Given the description of an element on the screen output the (x, y) to click on. 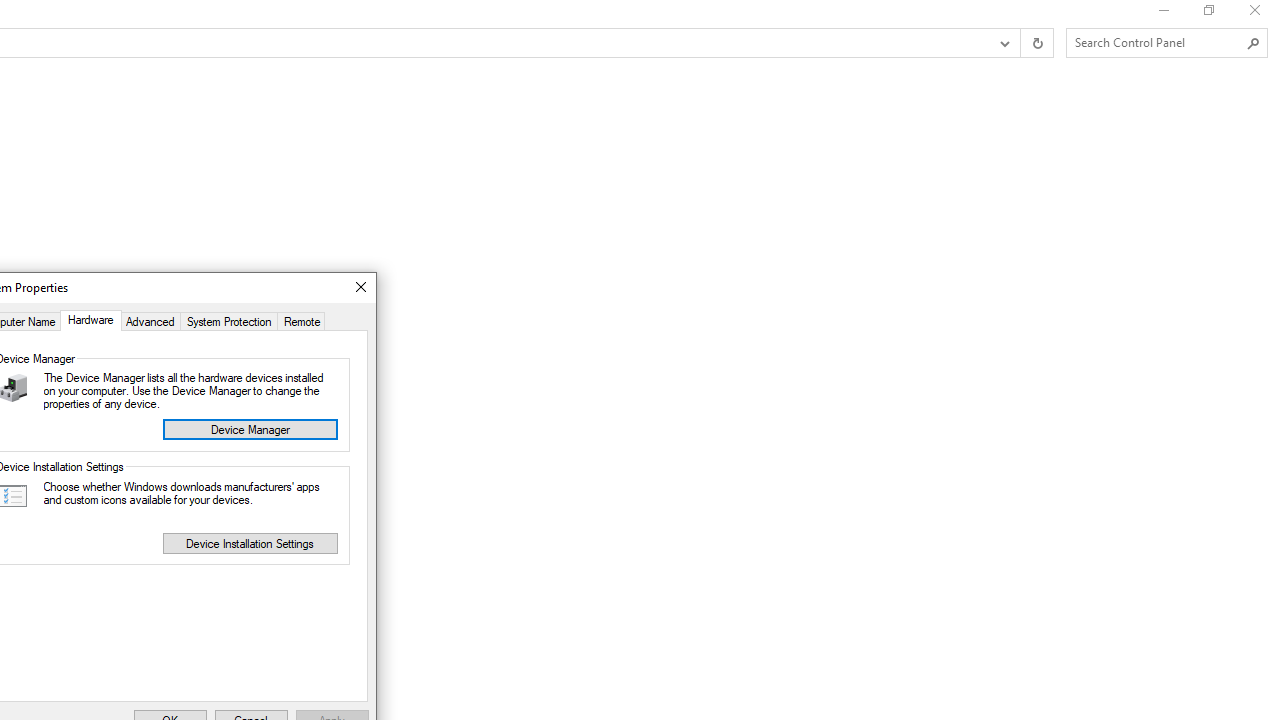
Remote (301, 320)
Hardware (90, 320)
Advanced (150, 320)
Device Installation Settings (250, 543)
System Protection (228, 320)
Device Manager (250, 429)
Close (360, 287)
